Given the description of an element on the screen output the (x, y) to click on. 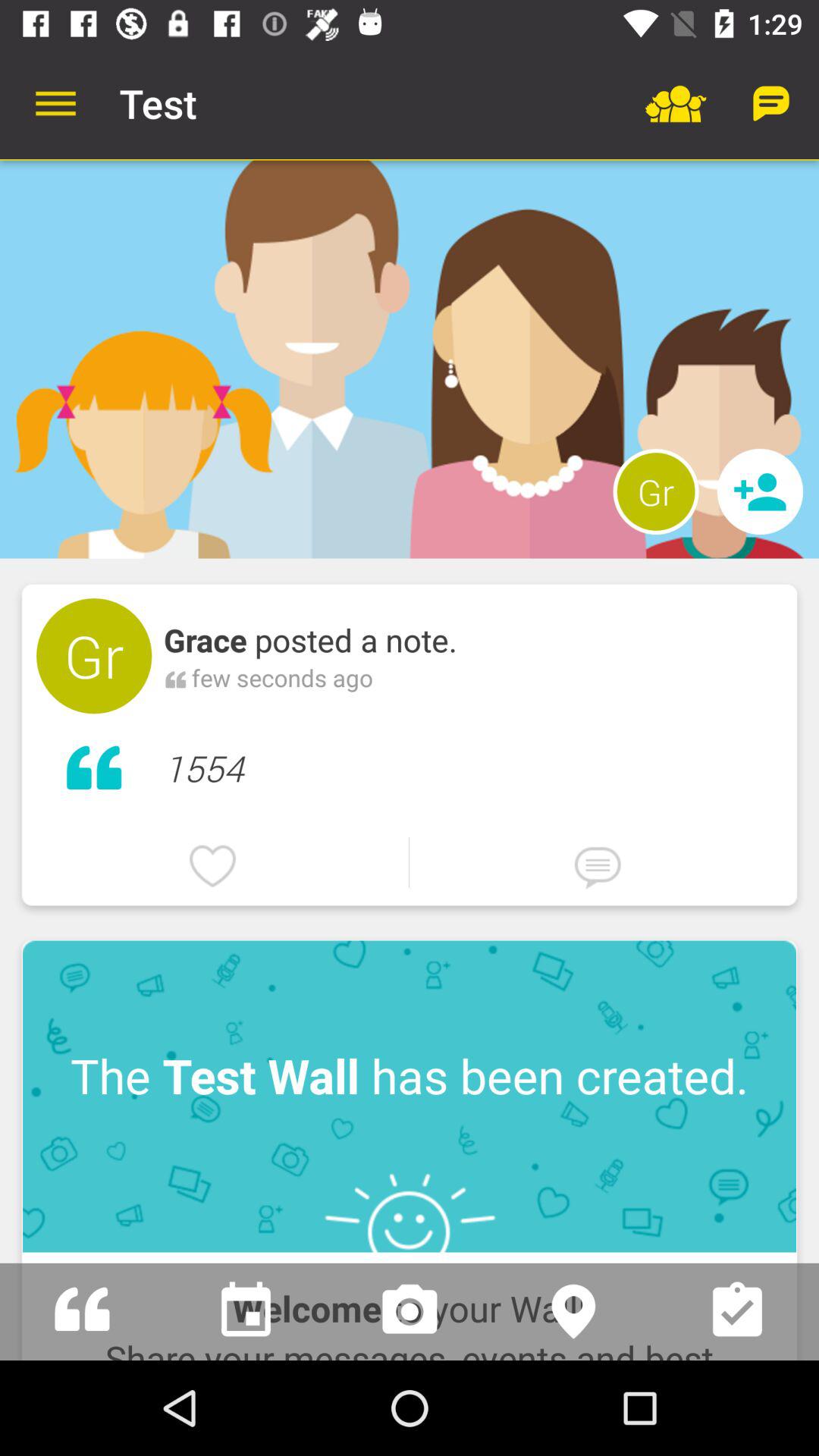
press the the test wall item (409, 1096)
